Given the description of an element on the screen output the (x, y) to click on. 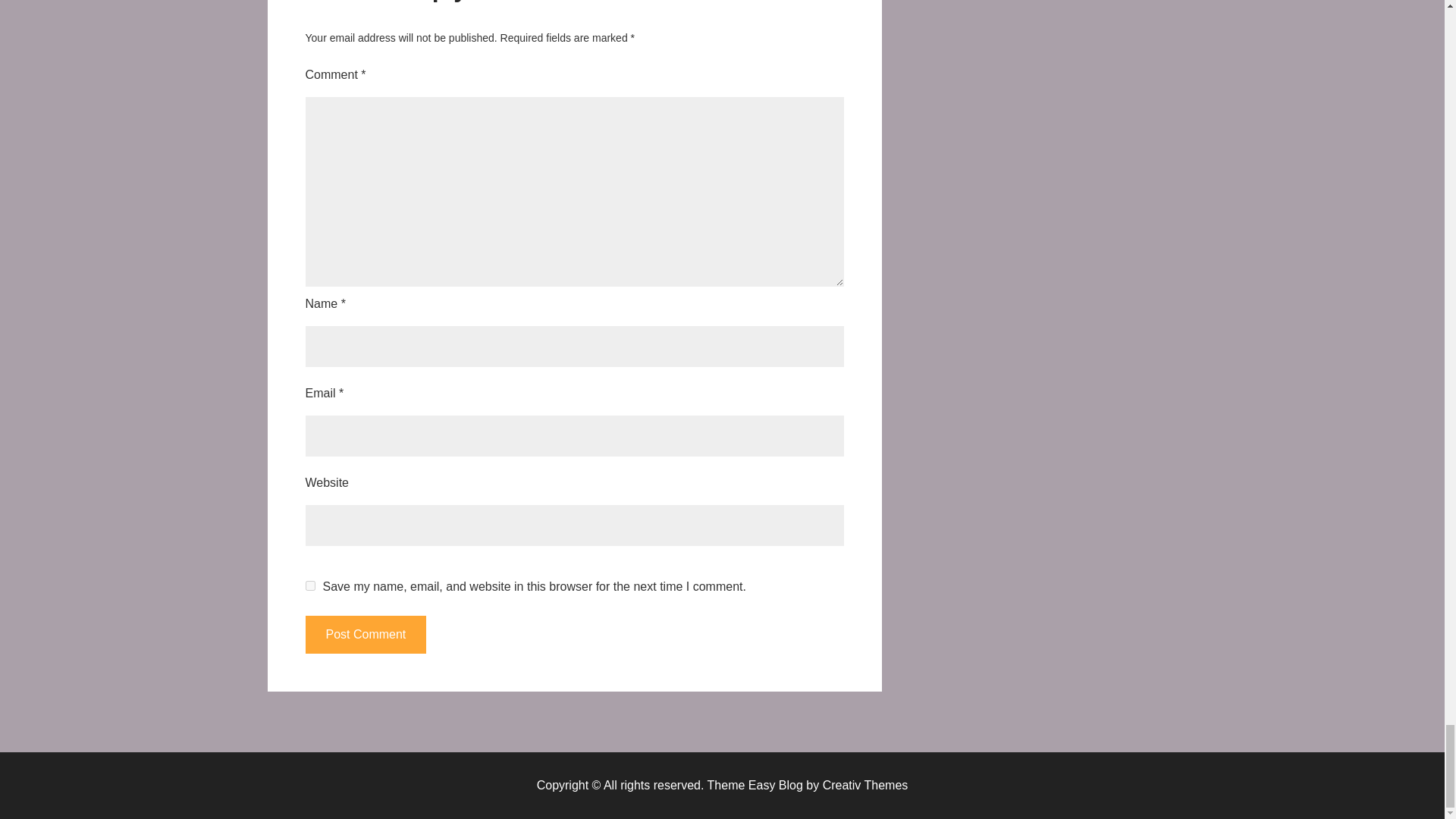
Post Comment (365, 634)
Creativ Themes (865, 784)
yes (309, 585)
Post Comment (365, 634)
